Given the description of an element on the screen output the (x, y) to click on. 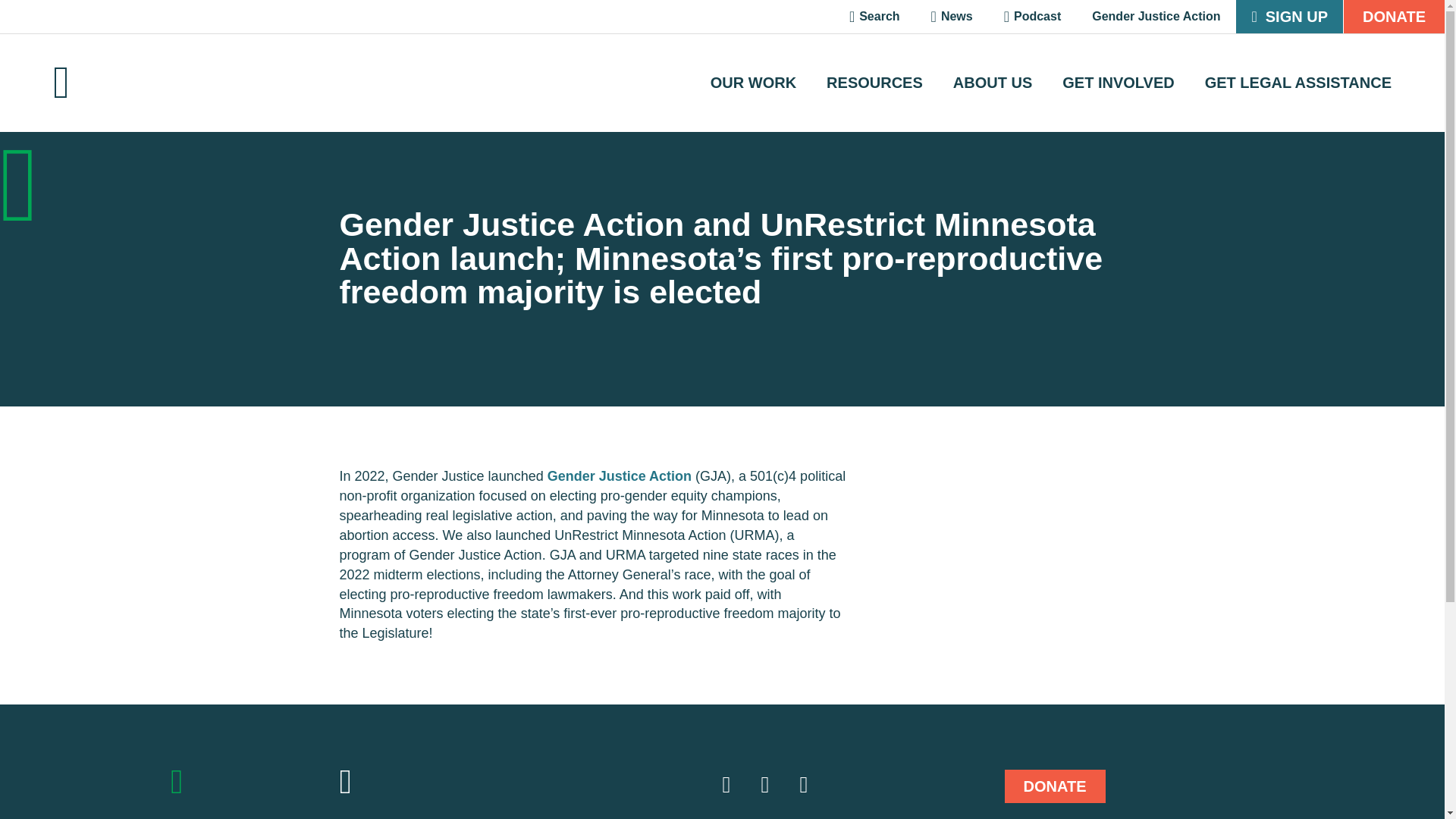
OUR WORK (753, 82)
Gender Justice Action (1155, 16)
RESOURCES (875, 82)
News (951, 16)
DONATE (1054, 786)
Search (874, 16)
ABOUT US (992, 82)
Podcast (1032, 16)
GET LEGAL ASSISTANCE (1298, 82)
GET INVOLVED (1117, 82)
SIGN UP (1289, 16)
Gender Justice Action (619, 476)
